Given the description of an element on the screen output the (x, y) to click on. 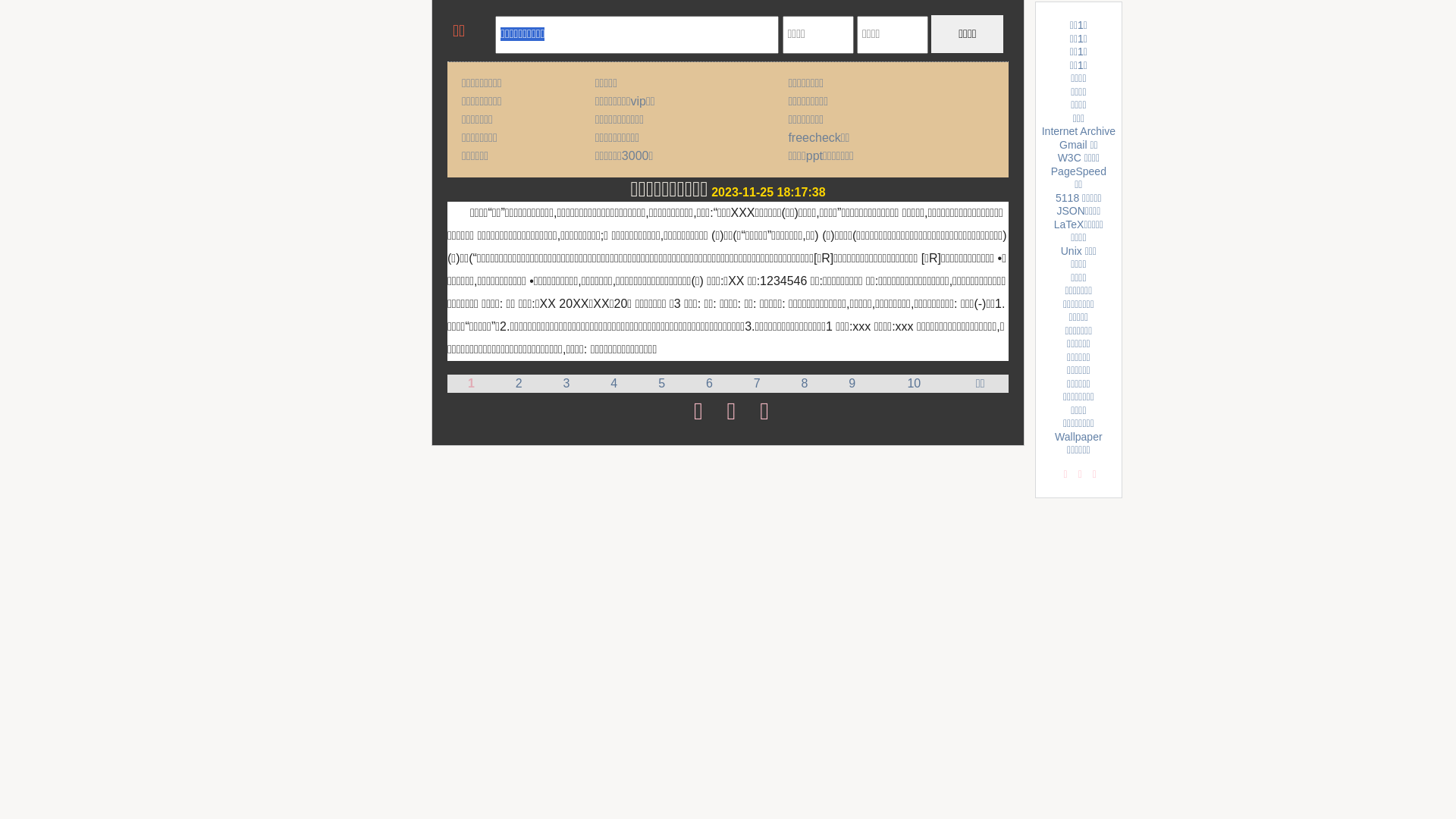
10 Element type: text (913, 382)
6 Element type: text (709, 382)
2 Element type: text (518, 382)
5 Element type: text (661, 382)
Internet Archive Element type: text (1078, 131)
8 Element type: text (804, 382)
3 Element type: text (566, 382)
PageSpeed Element type: text (1078, 171)
9 Element type: text (851, 382)
2023-11-25 18:17:38 Element type: text (768, 191)
Wallpaper Element type: text (1078, 436)
4 Element type: text (613, 382)
7 Element type: text (756, 382)
no canvas Element type: text (472, 33)
